Given the description of an element on the screen output the (x, y) to click on. 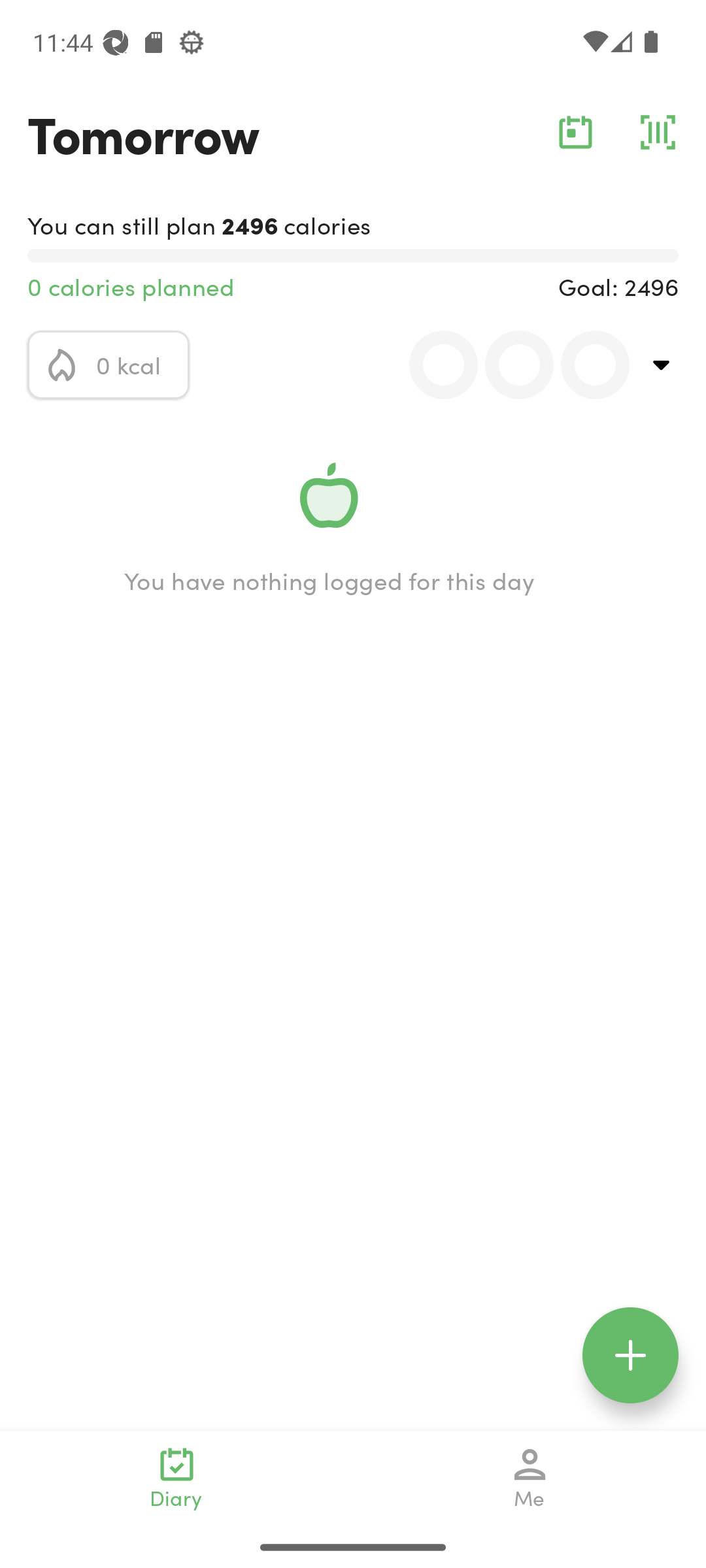
calendar_action (575, 132)
barcode_action (658, 132)
calorie_icon 0 kcal (108, 365)
0.0 0.0 0.0 (508, 365)
top_right_action (661, 365)
floating_action_icon (630, 1355)
Me navigation_icon (529, 1478)
